Given the description of an element on the screen output the (x, y) to click on. 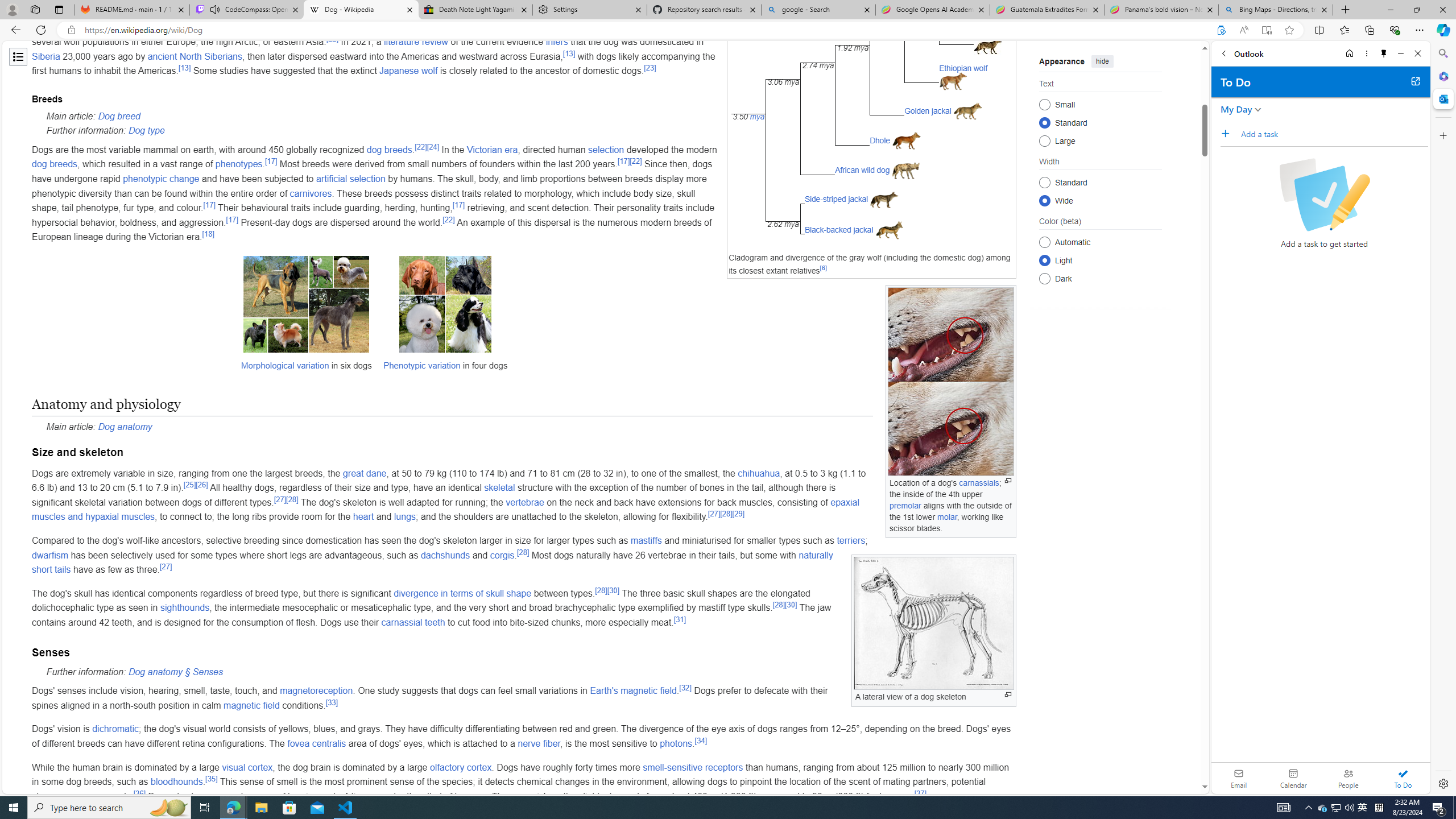
Automatic (1044, 241)
magnetic field (251, 705)
Email (1238, 777)
Side-striped jackal (835, 198)
[27] (165, 565)
Dog breed (119, 115)
Phenotypic variation in four dogs (445, 303)
phenotypic change (160, 178)
Dog - Wikipedia (360, 9)
[25] (189, 483)
